Given the description of an element on the screen output the (x, y) to click on. 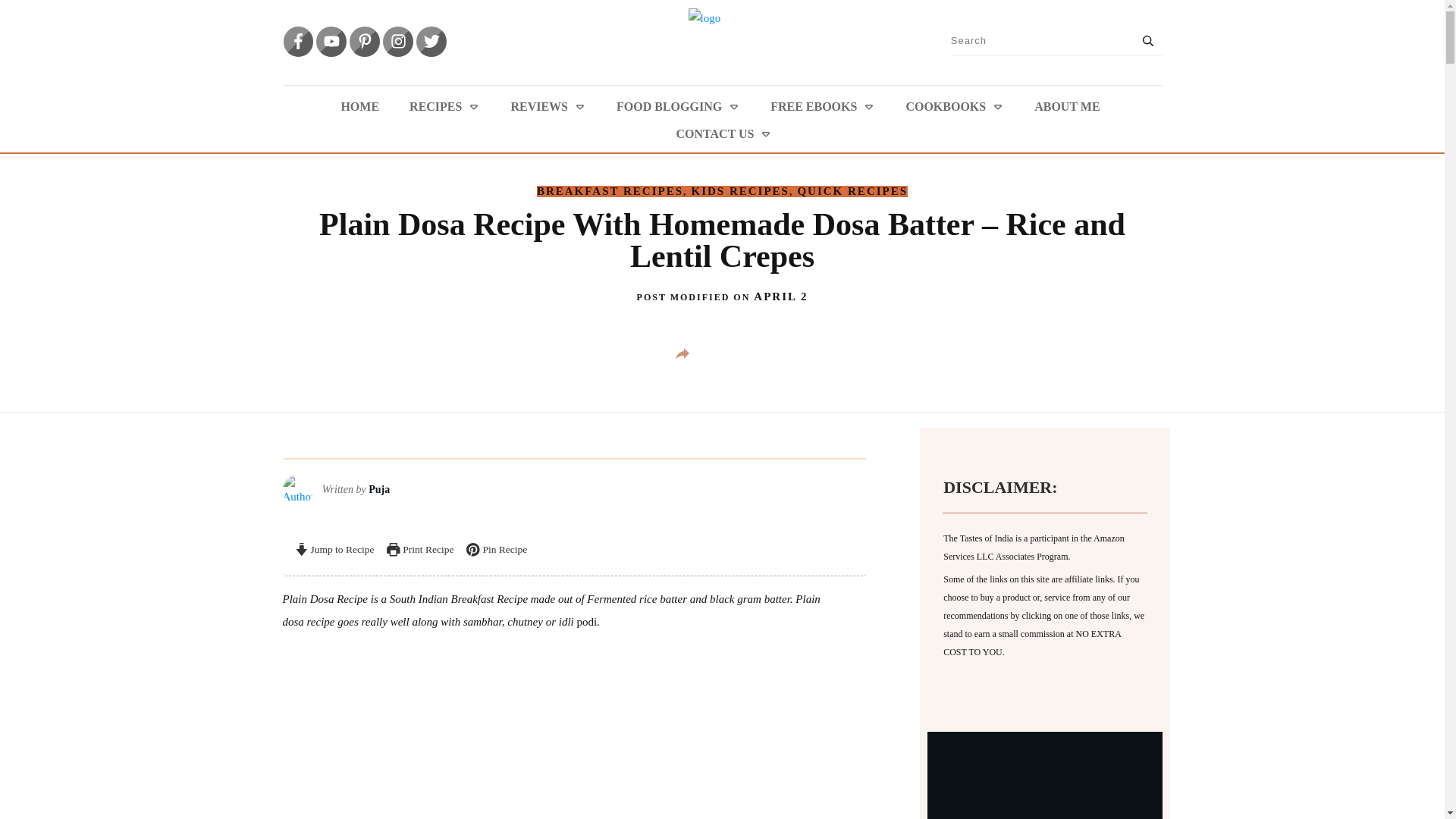
FOOD BLOGGING (677, 106)
Kids Recipes (740, 191)
CONTACT US (725, 134)
RECIPES (444, 106)
KIDS RECIPES (740, 191)
April 2  (781, 296)
HOME (359, 106)
QUICK RECIPES (851, 191)
BREAKFAST RECIPES (609, 191)
FREE EBOOKS (822, 106)
Breakfast Recipes (609, 191)
Fast Food Recipes (1044, 803)
Quick Recipes (851, 191)
ABOUT ME (1066, 106)
undefined (297, 490)
